Given the description of an element on the screen output the (x, y) to click on. 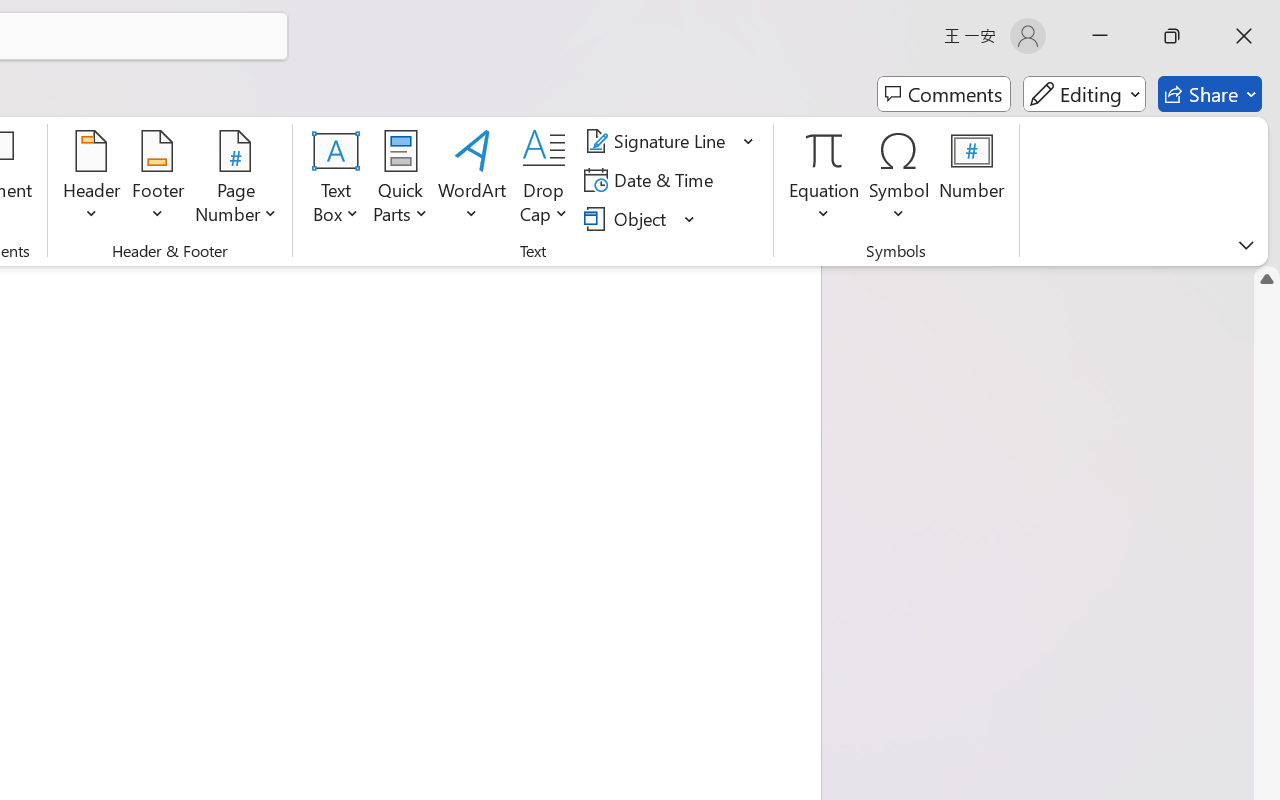
Object... (628, 218)
Mode (1083, 94)
Comments (943, 94)
Date & Time... (651, 179)
Quick Parts (400, 179)
Drop Cap (543, 179)
Equation (823, 150)
Text Box (335, 179)
Restore Down (1172, 36)
Line up (1267, 278)
Footer (157, 179)
